Given the description of an element on the screen output the (x, y) to click on. 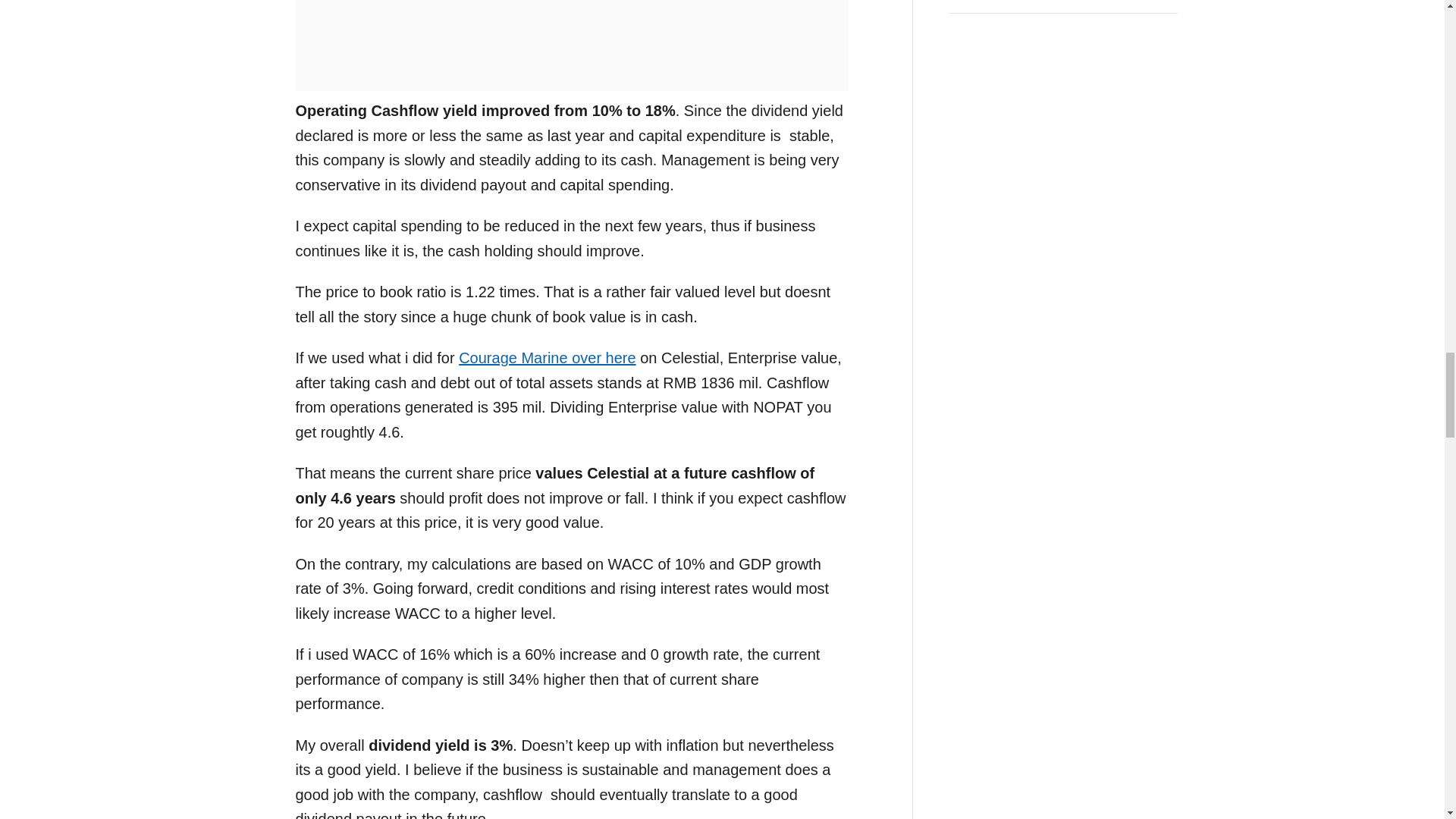
Courage Marine over here (546, 357)
